Given the description of an element on the screen output the (x, y) to click on. 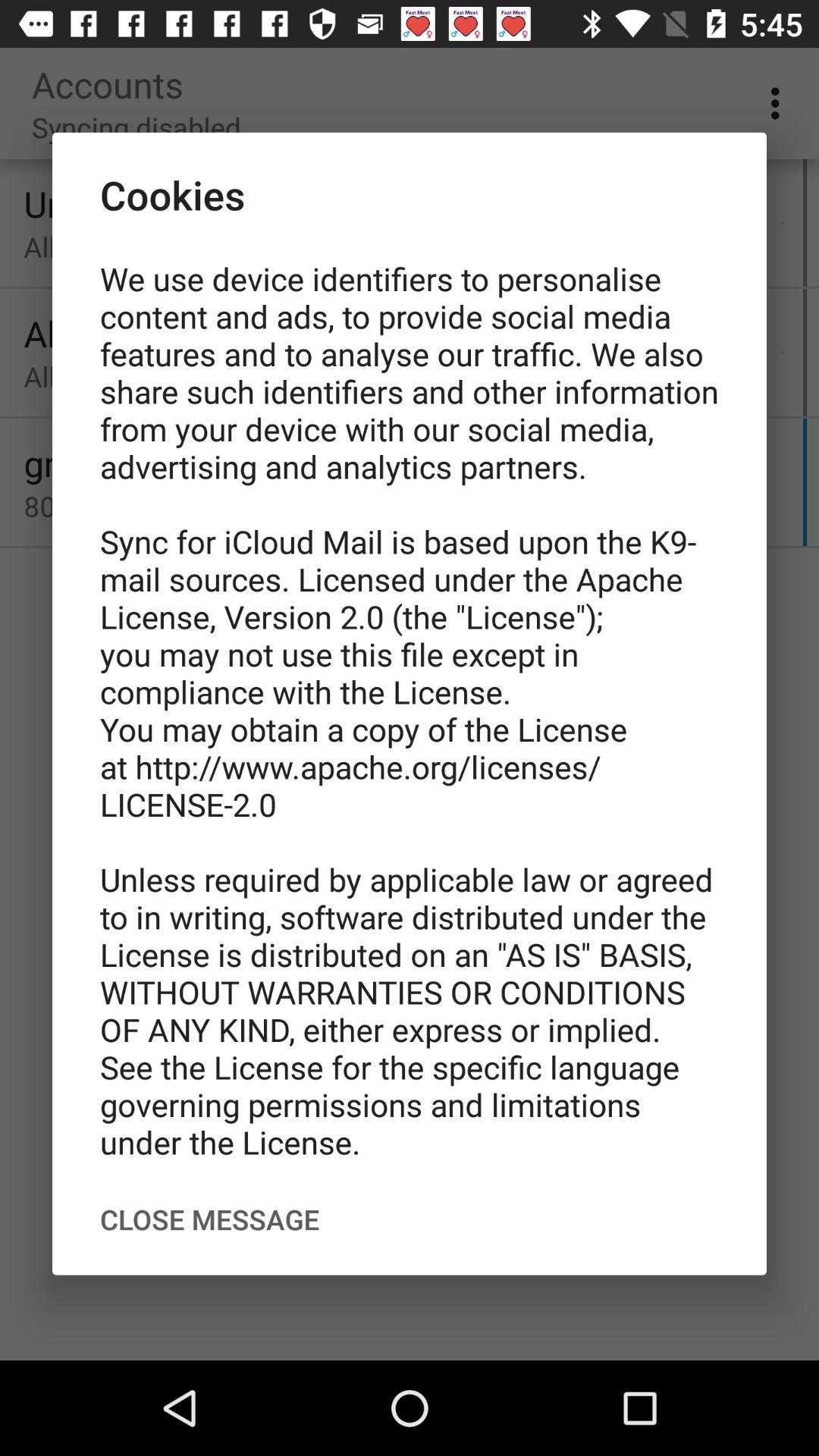
swipe to close message icon (209, 1219)
